Given the description of an element on the screen output the (x, y) to click on. 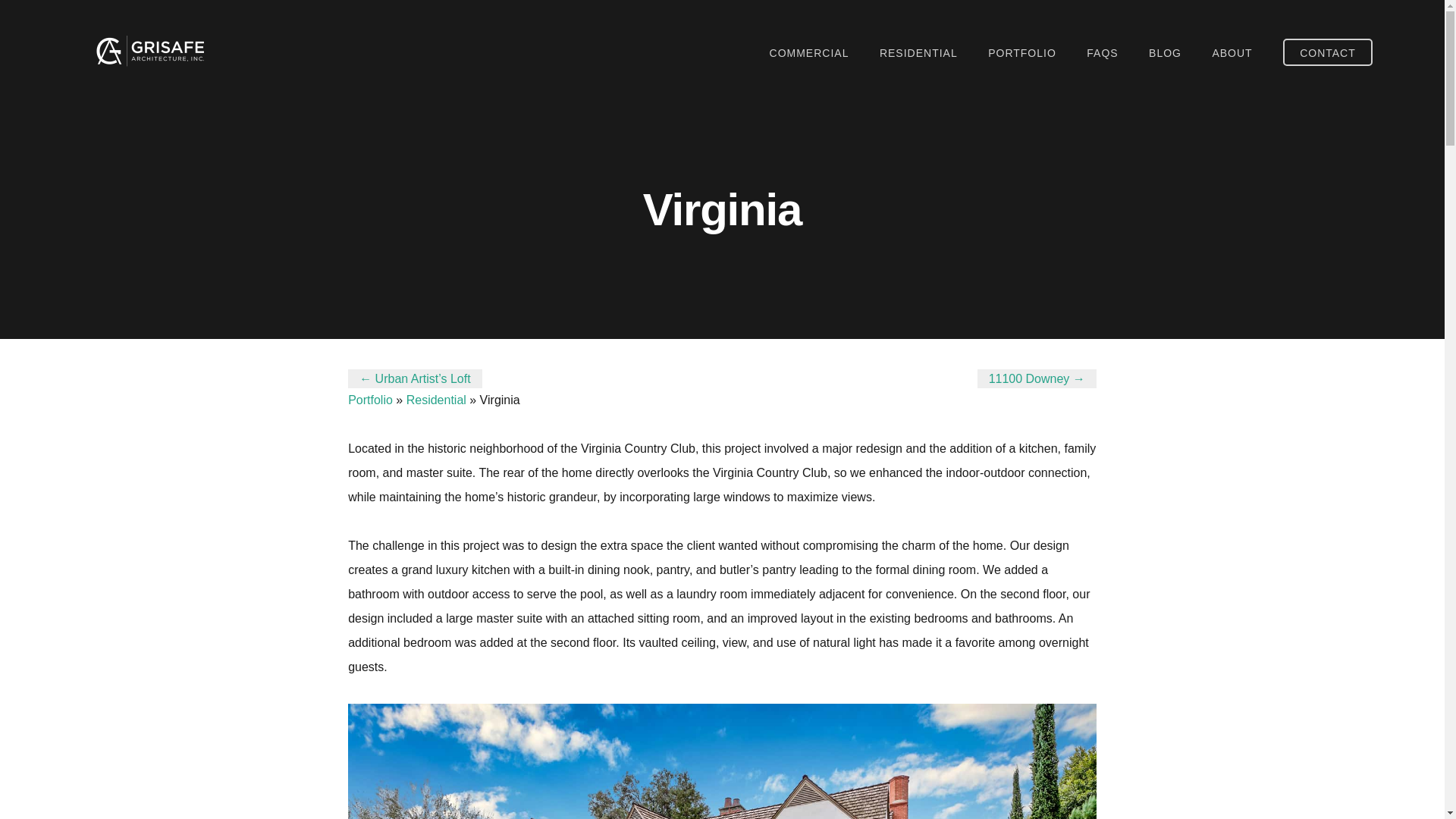
PORTFOLIO (1022, 53)
Portfolio (370, 399)
Grisafe Architecture (147, 50)
CONTACT (1327, 52)
Residential (435, 399)
COMMERCIAL (809, 53)
RESIDENTIAL (918, 53)
